Given the description of an element on the screen output the (x, y) to click on. 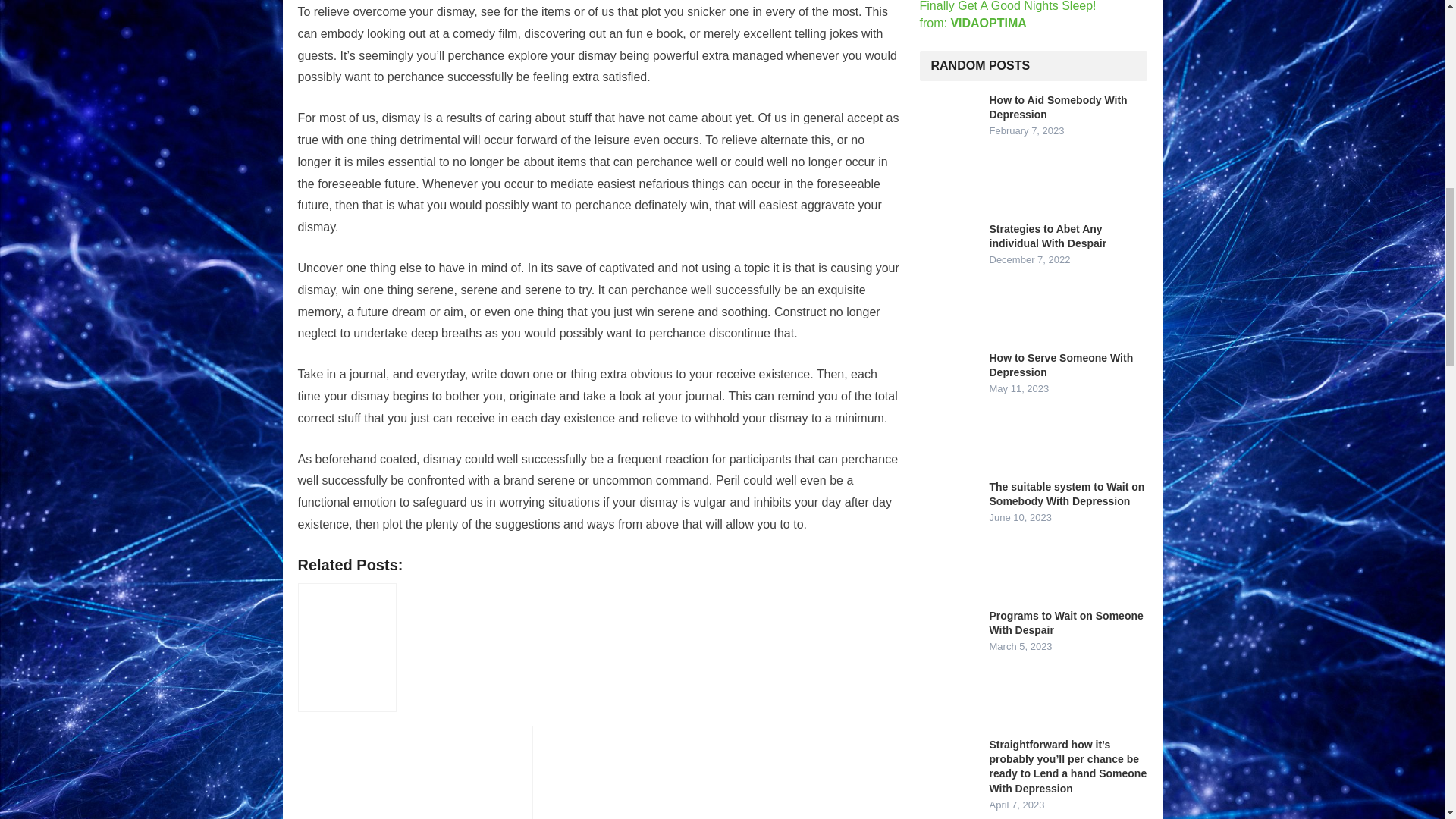
The Underground Paunchy Burner Supplement (482, 772)
